Given the description of an element on the screen output the (x, y) to click on. 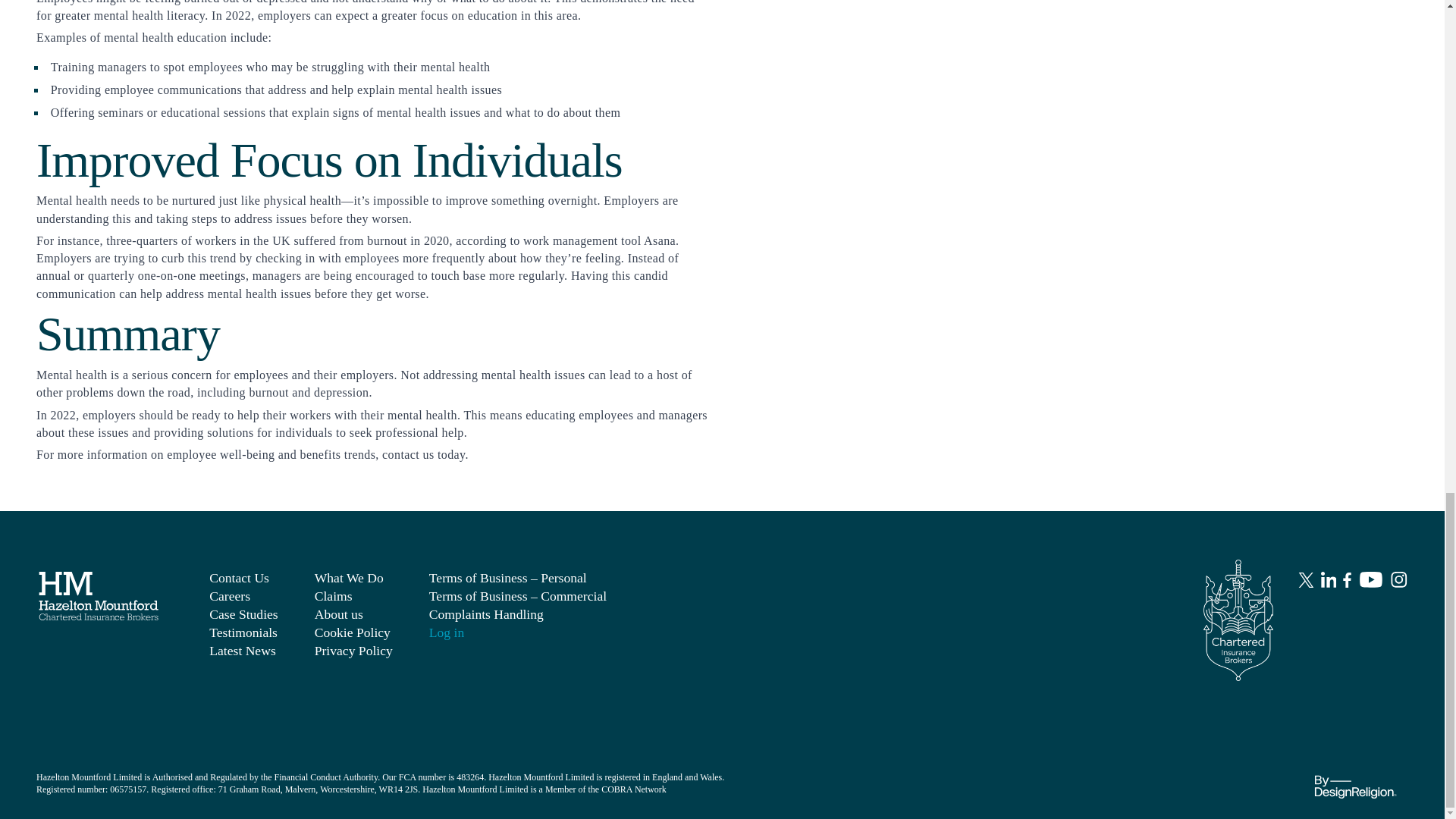
By Design Religion (1354, 781)
